Given the description of an element on the screen output the (x, y) to click on. 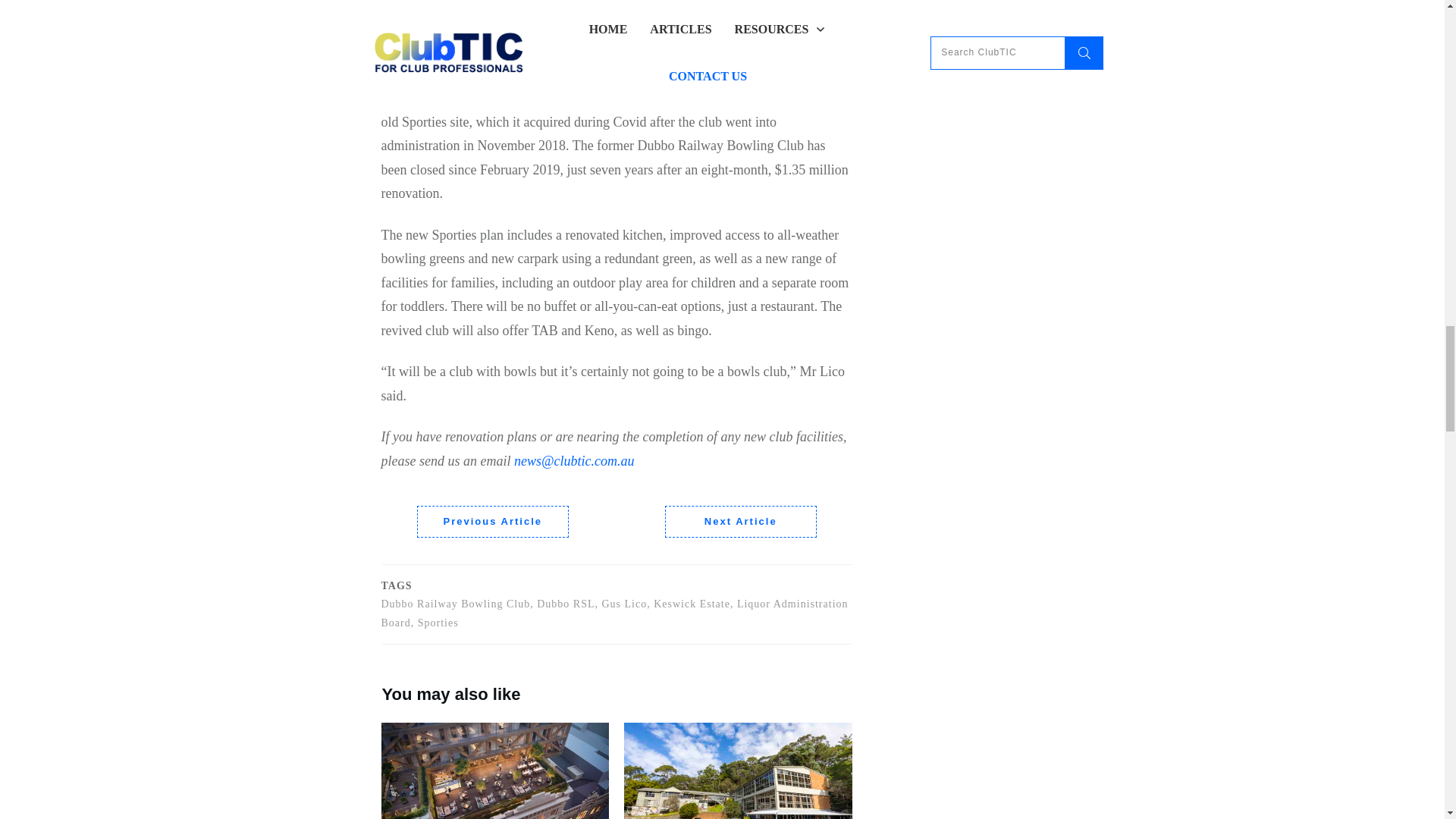
Previous Article (492, 521)
Northern Beaches heartland Narrabeen RSL for sale (737, 770)
City Tatts sells out of city site (494, 770)
Next Article (740, 521)
